Given the description of an element on the screen output the (x, y) to click on. 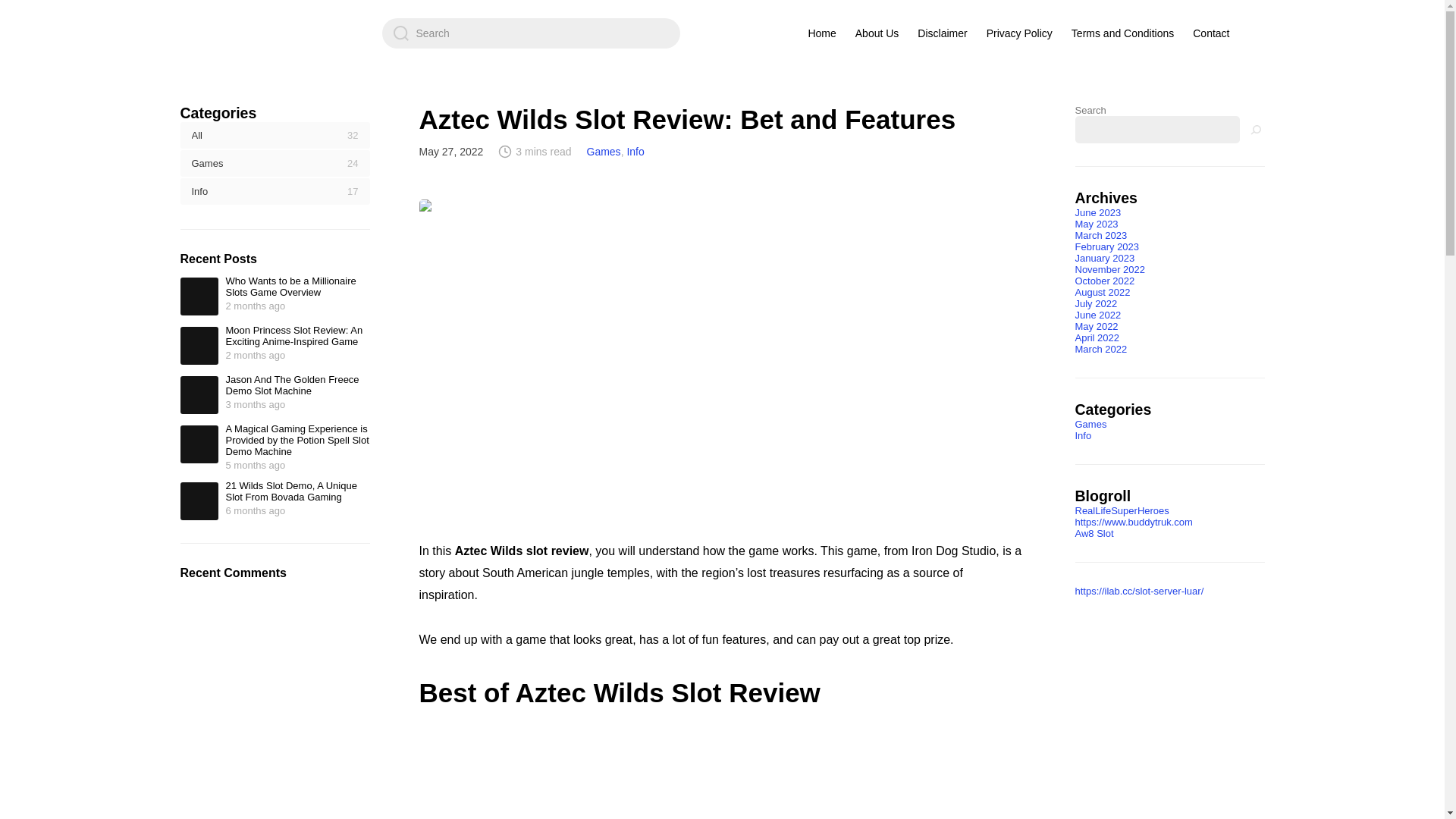
Disclaimer (942, 33)
Privacy Policy (1018, 33)
Contact (1210, 33)
Home (821, 33)
Terms and Conditions (1122, 33)
Games (603, 151)
Info (634, 151)
About Us (877, 33)
